Given the description of an element on the screen output the (x, y) to click on. 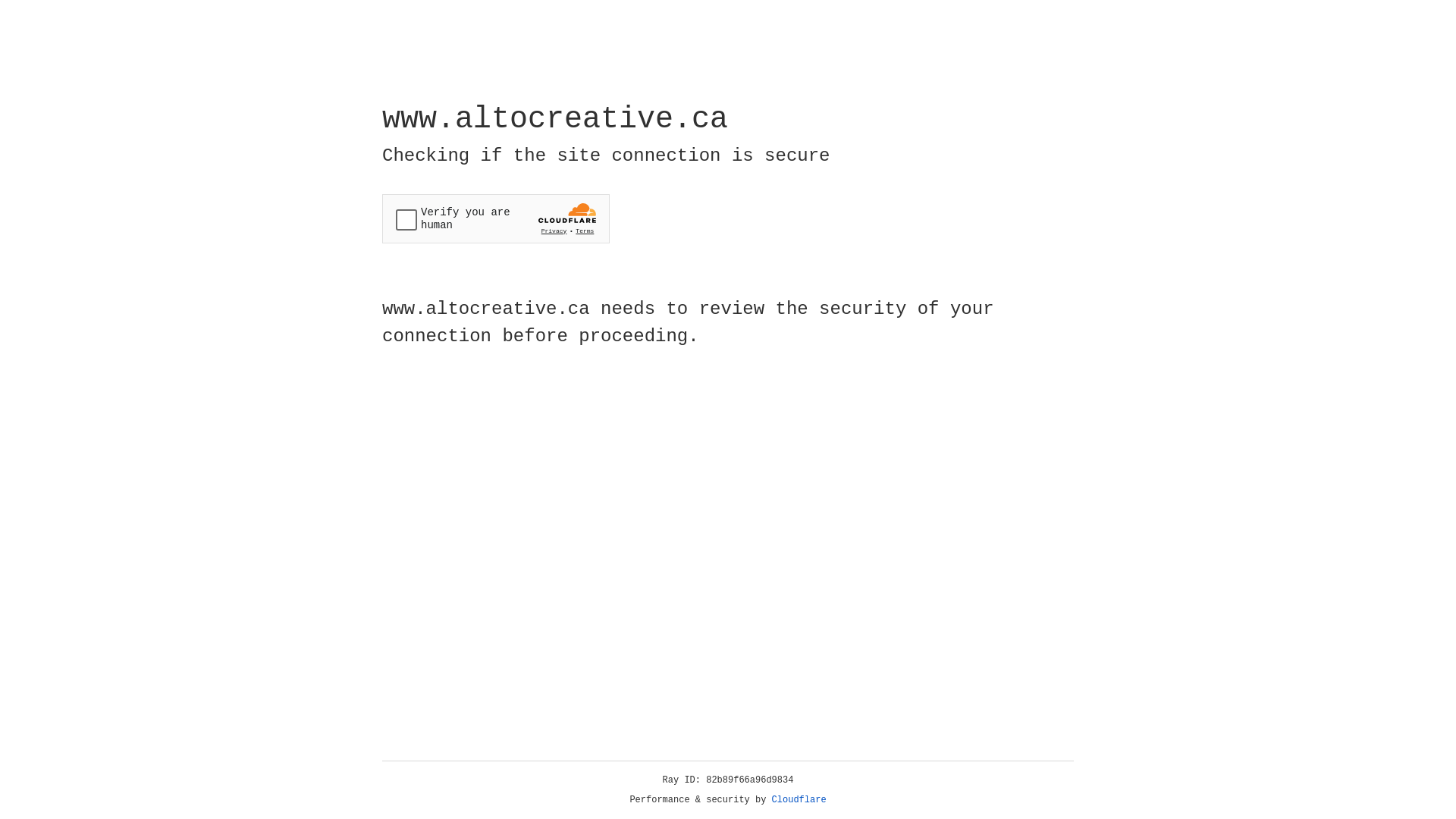
Widget containing a Cloudflare security challenge Element type: hover (495, 218)
Cloudflare Element type: text (798, 799)
